Given the description of an element on the screen output the (x, y) to click on. 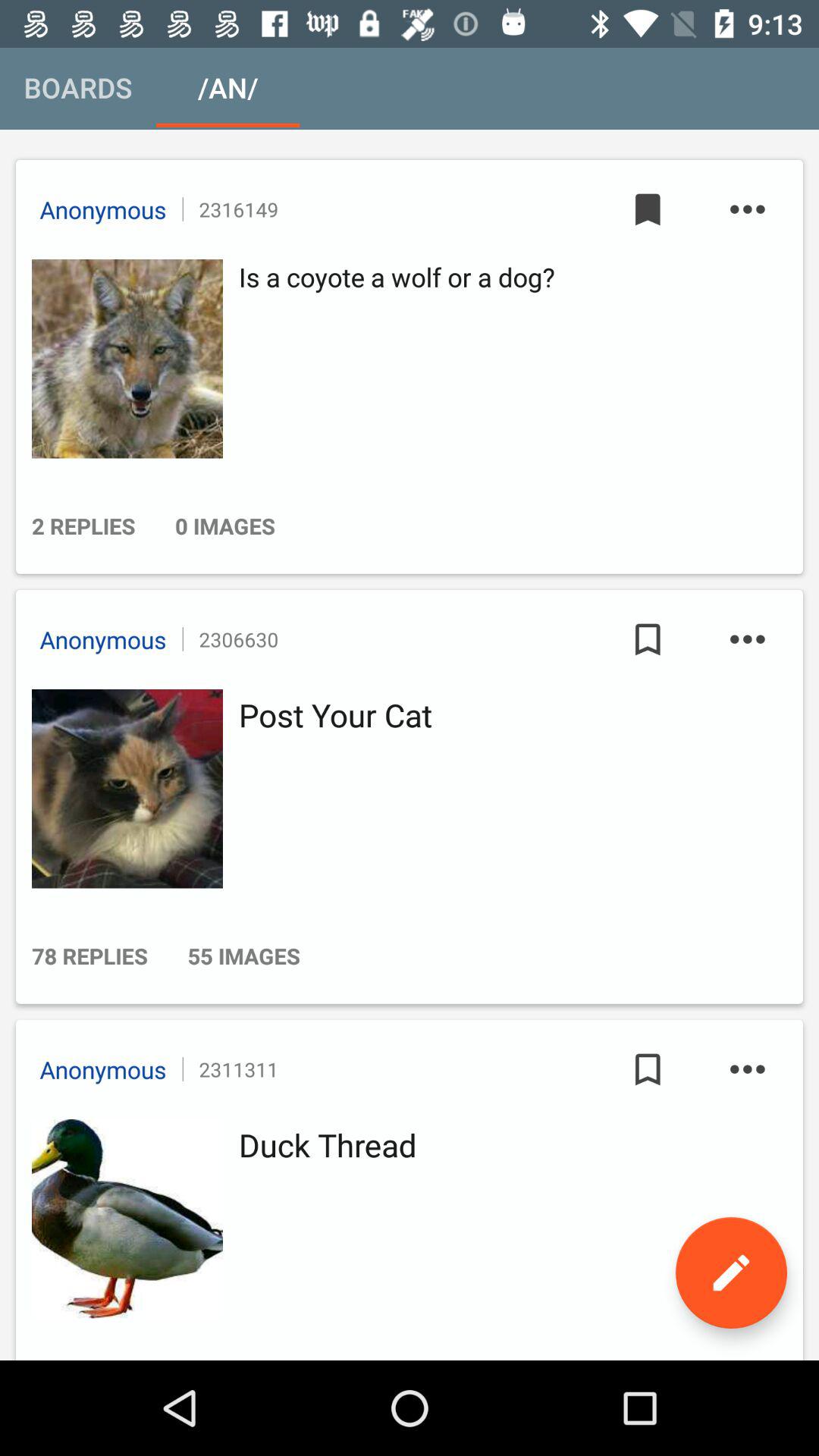
open thread (122, 1218)
